Given the description of an element on the screen output the (x, y) to click on. 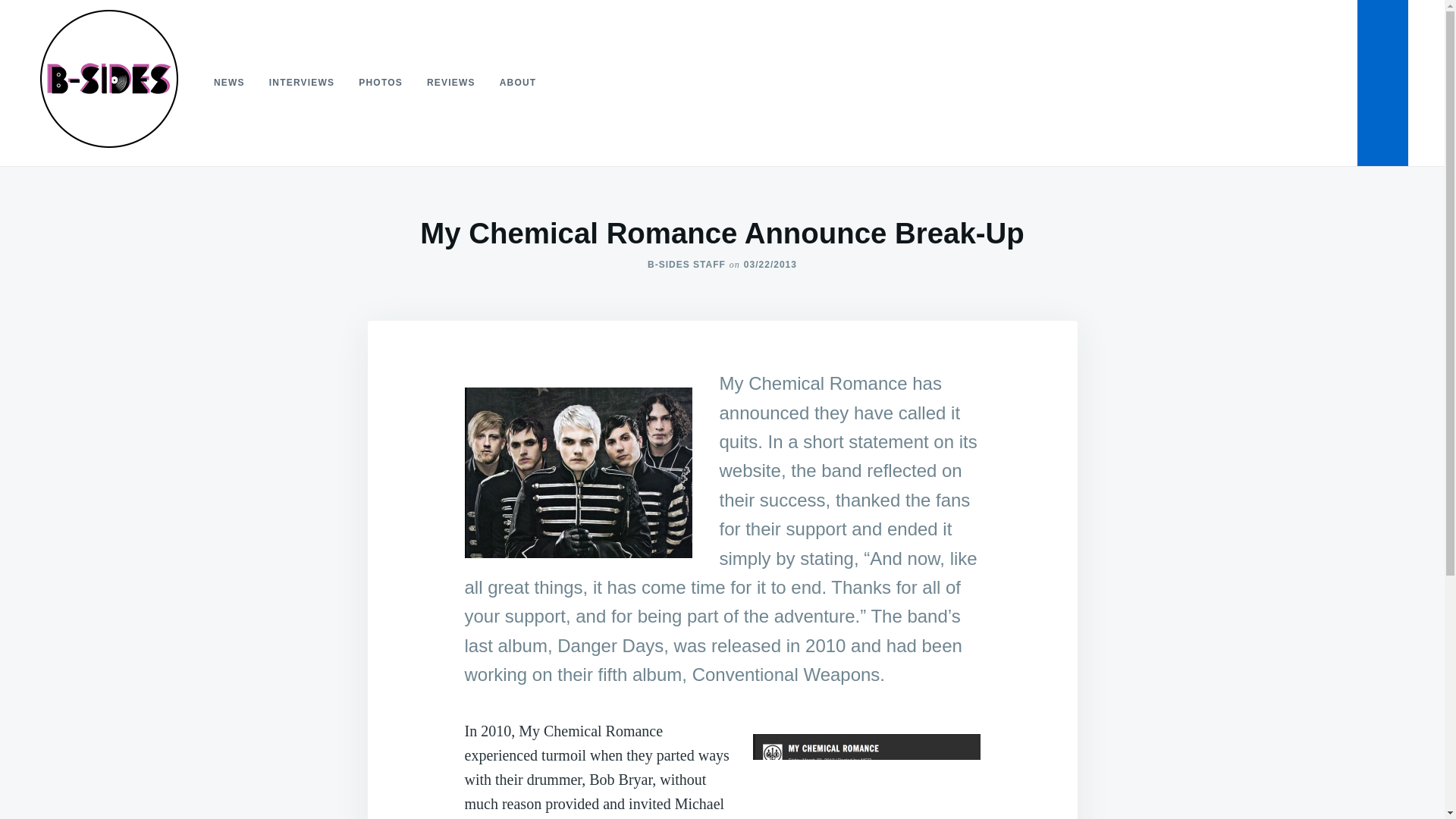
PHOTOS (380, 82)
Screen Shot 2013-03-22 at 8.54.45 PM (865, 771)
B-SIDES STAFF (686, 264)
B-Sides (69, 170)
INTERVIEWS (301, 82)
my-chemical-romance (577, 472)
ABOUT (517, 82)
NEWS (229, 82)
REVIEWS (450, 82)
